Given the description of an element on the screen output the (x, y) to click on. 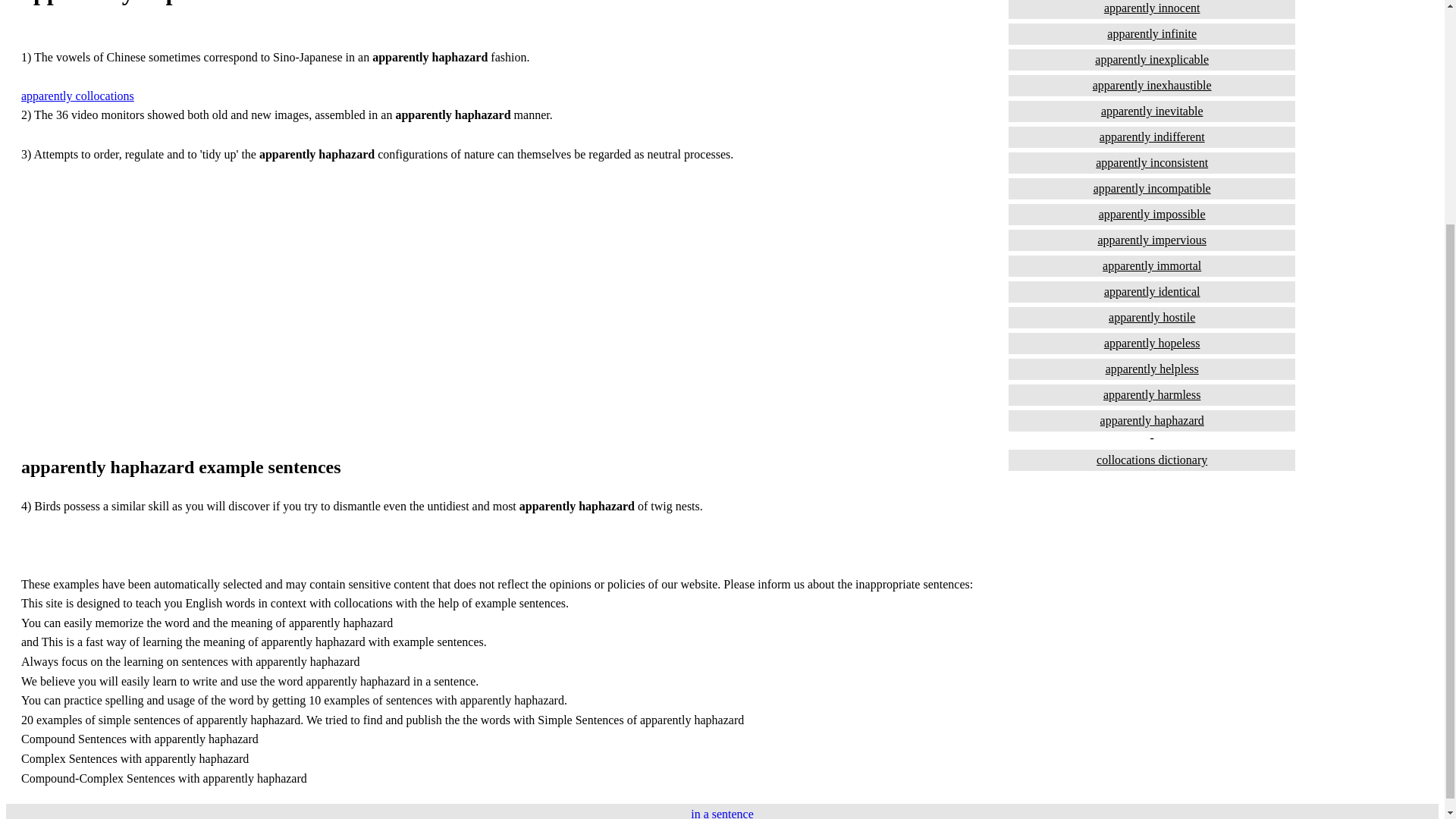
apparently indifferent (1152, 137)
apparently immortal in a sentence (1152, 265)
apparently hostile (1152, 317)
apparently inevitable (1152, 111)
apparently innocent (1152, 9)
apparently impossible in a sentence (1152, 214)
apparently innocent in a sentence (1152, 9)
apparently inexplicable (1152, 59)
apparently hostile in a sentence (1152, 317)
apparently immortal (1152, 265)
